Given the description of an element on the screen output the (x, y) to click on. 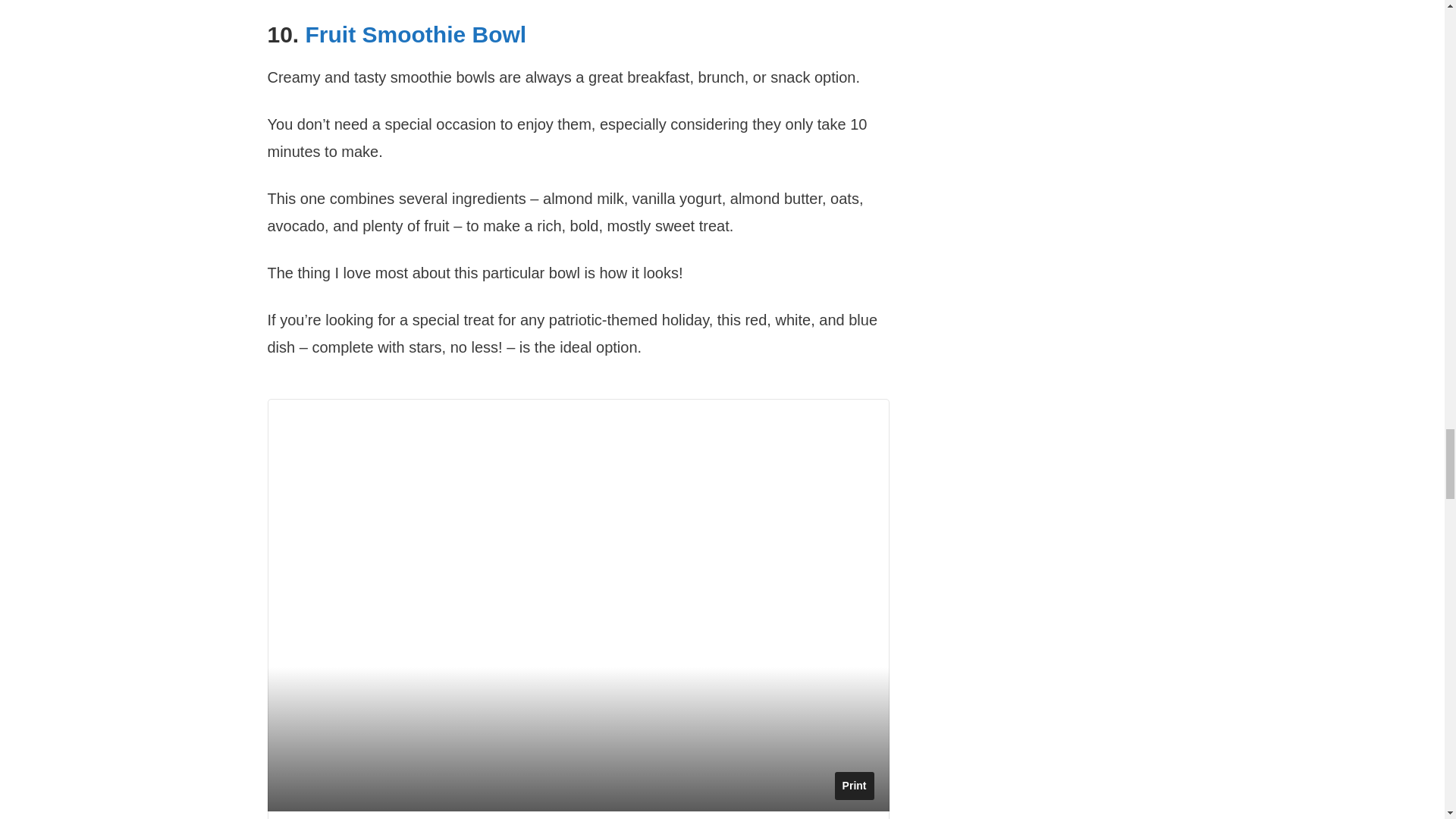
Print directions (854, 786)
